Given the description of an element on the screen output the (x, y) to click on. 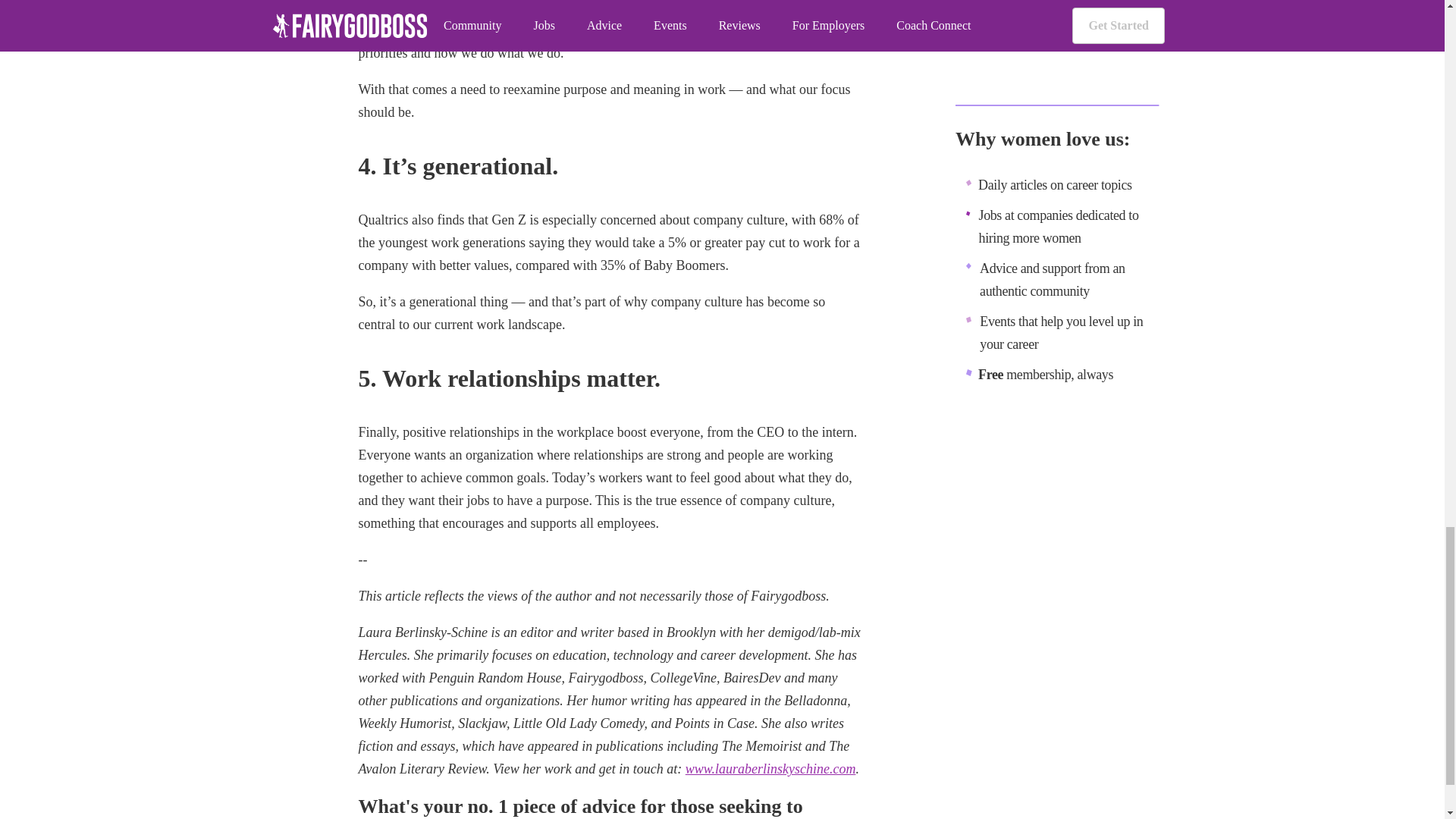
work style (722, 29)
www.lauraberlinskyschine.com (770, 768)
